Given the description of an element on the screen output the (x, y) to click on. 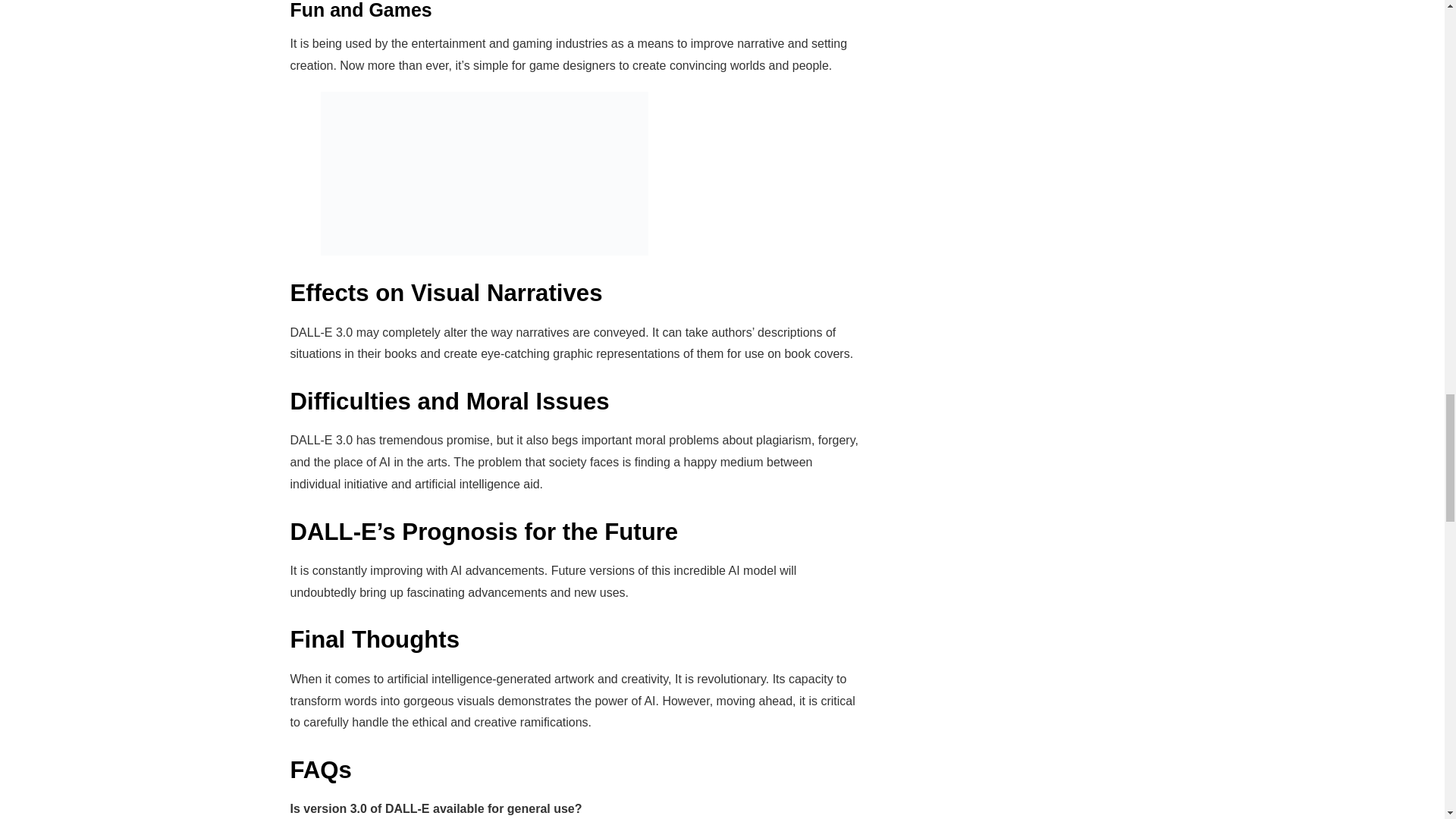
DALL-E 3.0 THE FUTURE OF AI-GENERATED ART 3 (483, 173)
